Given the description of an element on the screen output the (x, y) to click on. 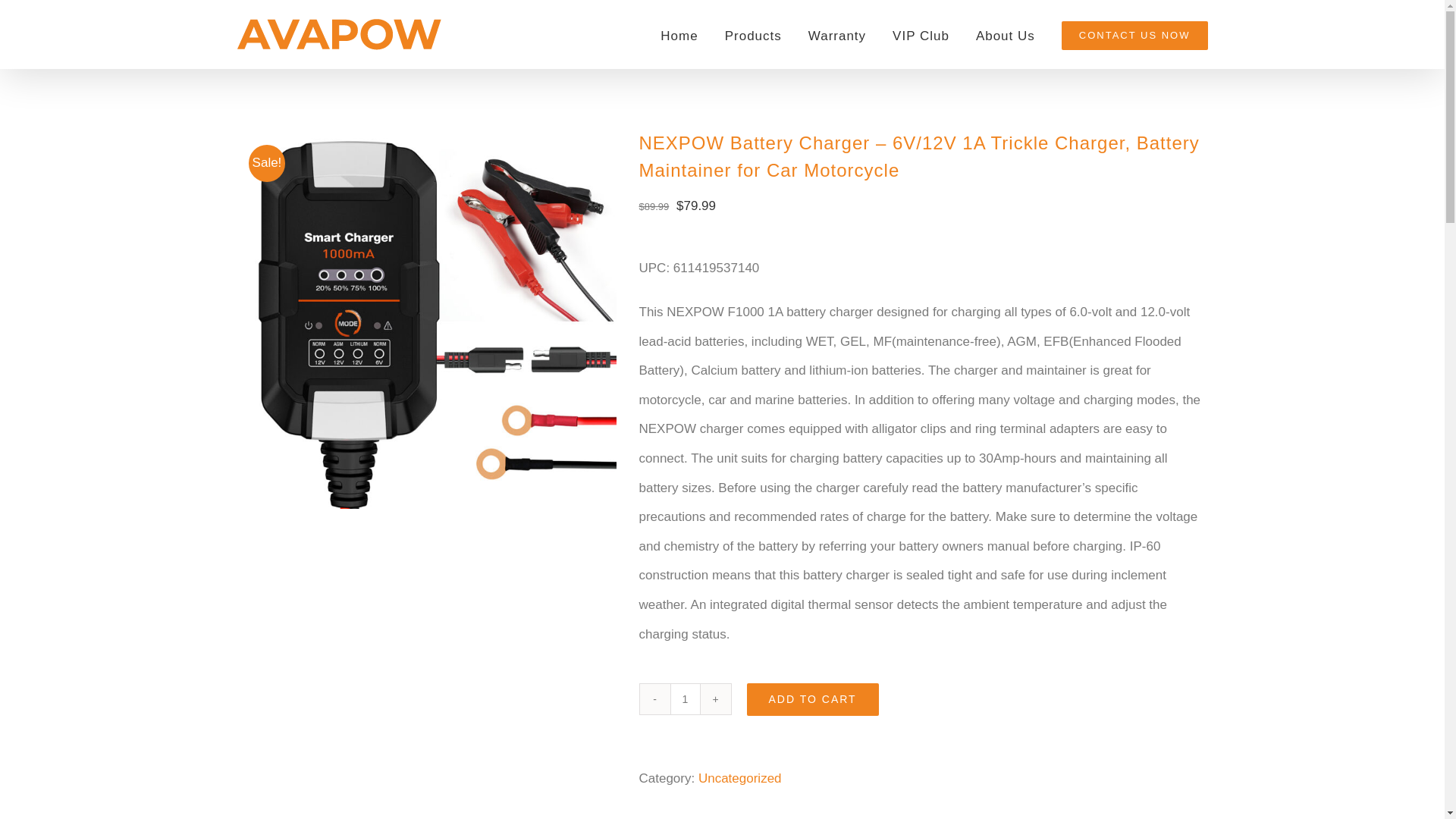
CONTACT US NOW (1134, 34)
1 (684, 698)
Uncategorized (739, 778)
ADD TO CART (811, 699)
- (654, 698)
